Given the description of an element on the screen output the (x, y) to click on. 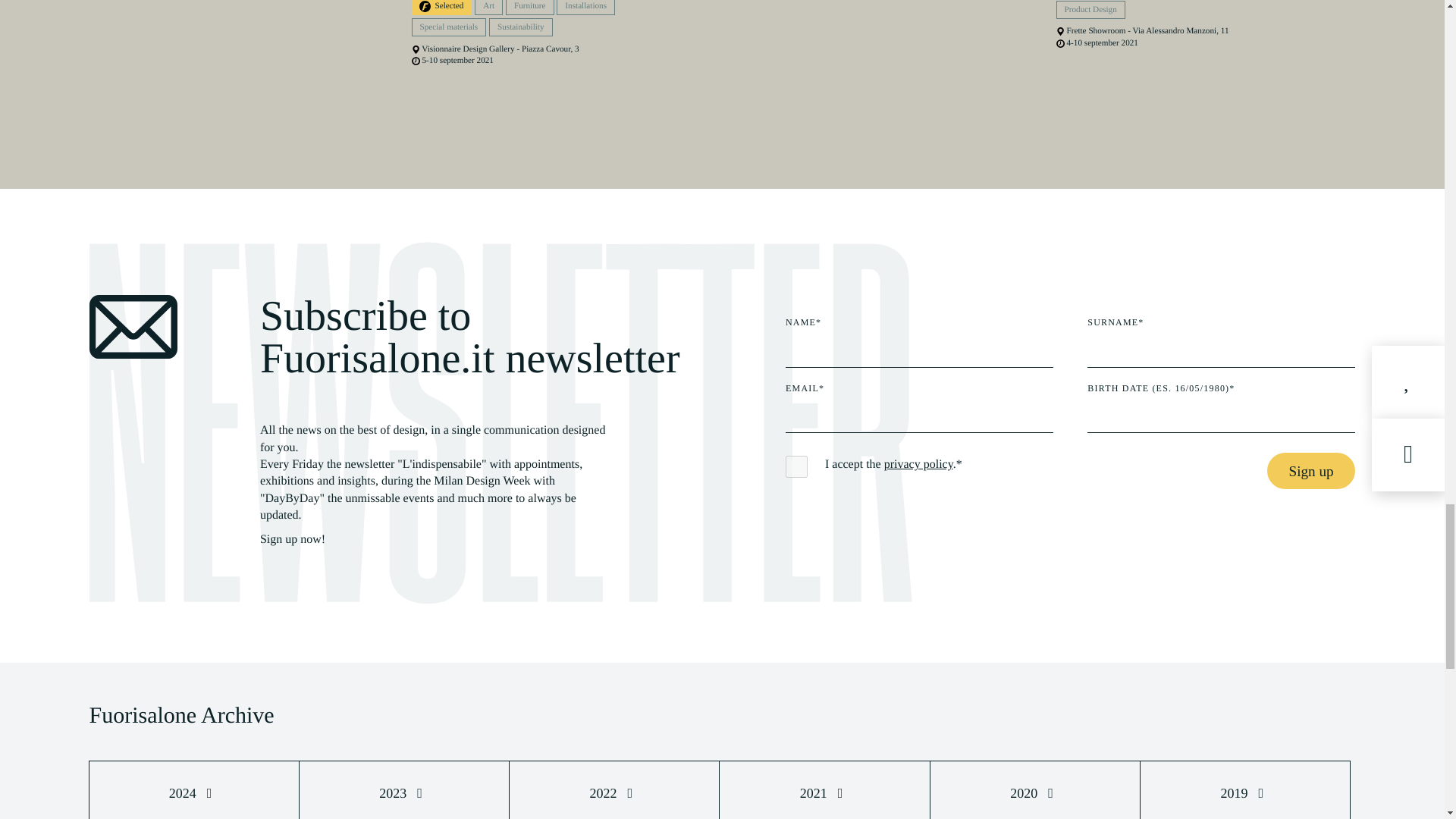
accetto (797, 466)
